Given the description of an element on the screen output the (x, y) to click on. 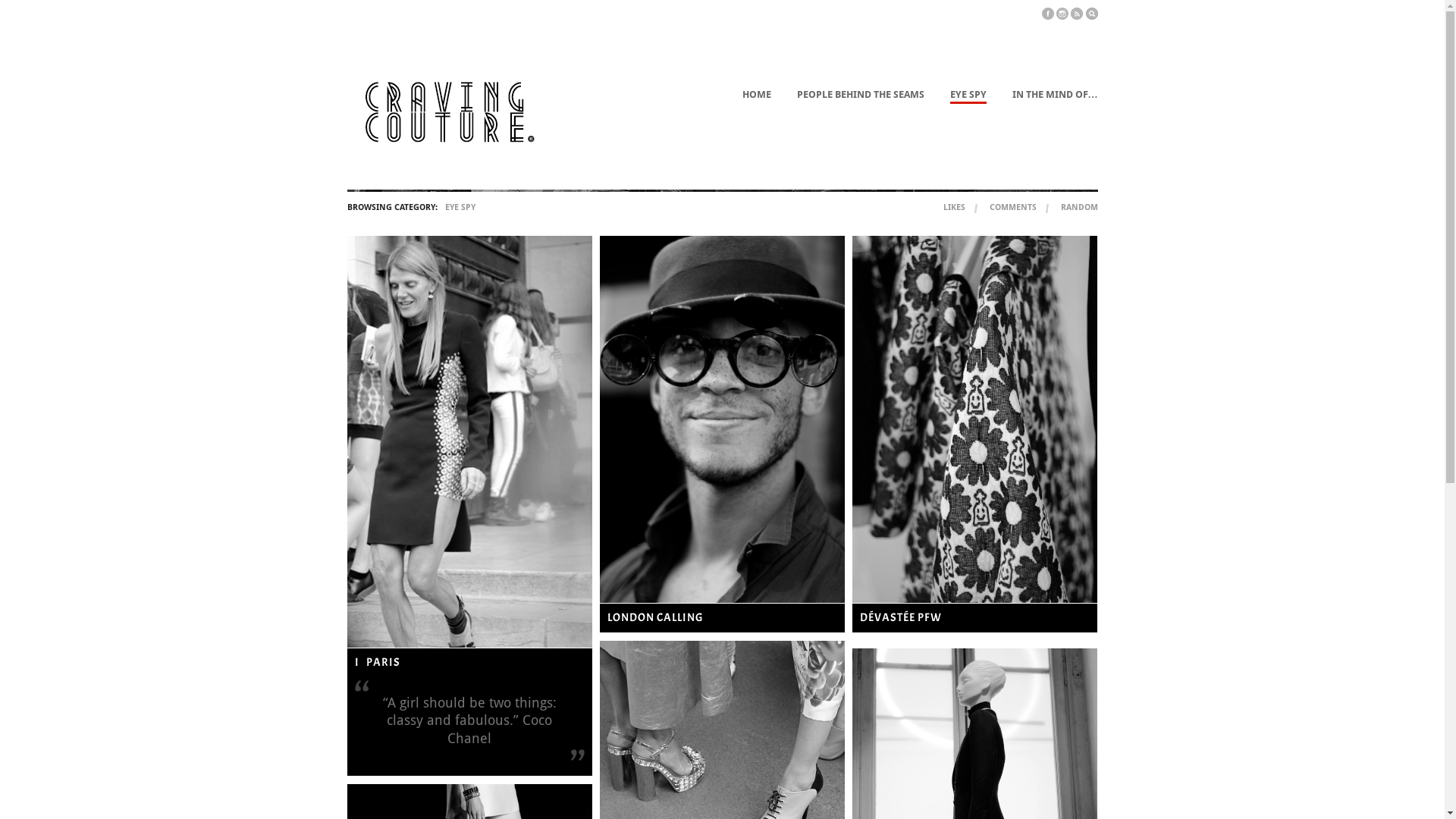
LONDON CALLING Element type: text (654, 617)
EYE SPY Element type: text (967, 95)
HOME Element type: text (755, 94)
PEOPLE BEHIND THE SEAMS Element type: text (859, 94)
LIKES Element type: text (954, 207)
RANDOM Element type: text (1078, 207)
COMMENTS Element type: text (1011, 207)
